Given the description of an element on the screen output the (x, y) to click on. 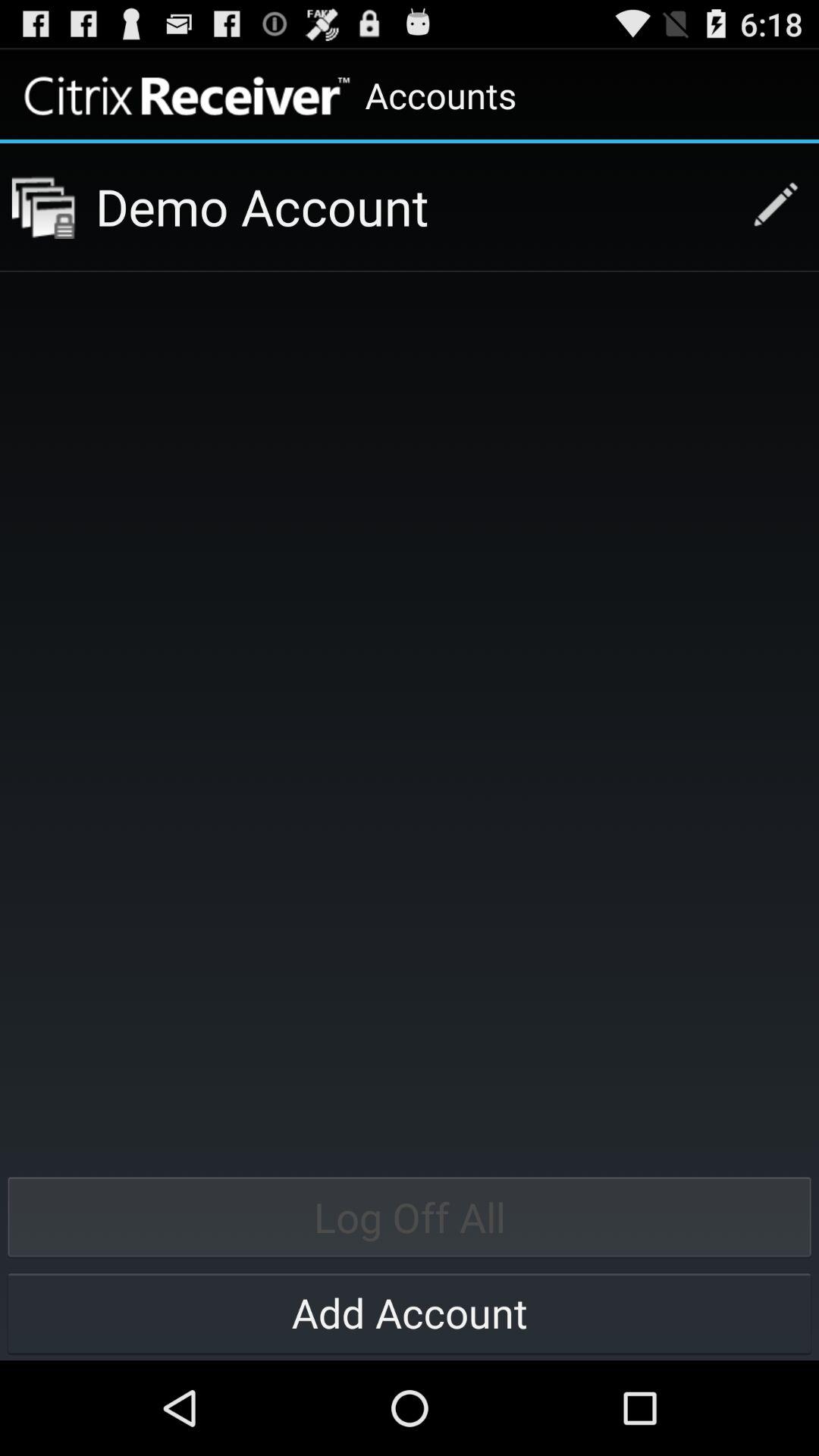
turn off icon below log off all item (409, 1312)
